Given the description of an element on the screen output the (x, y) to click on. 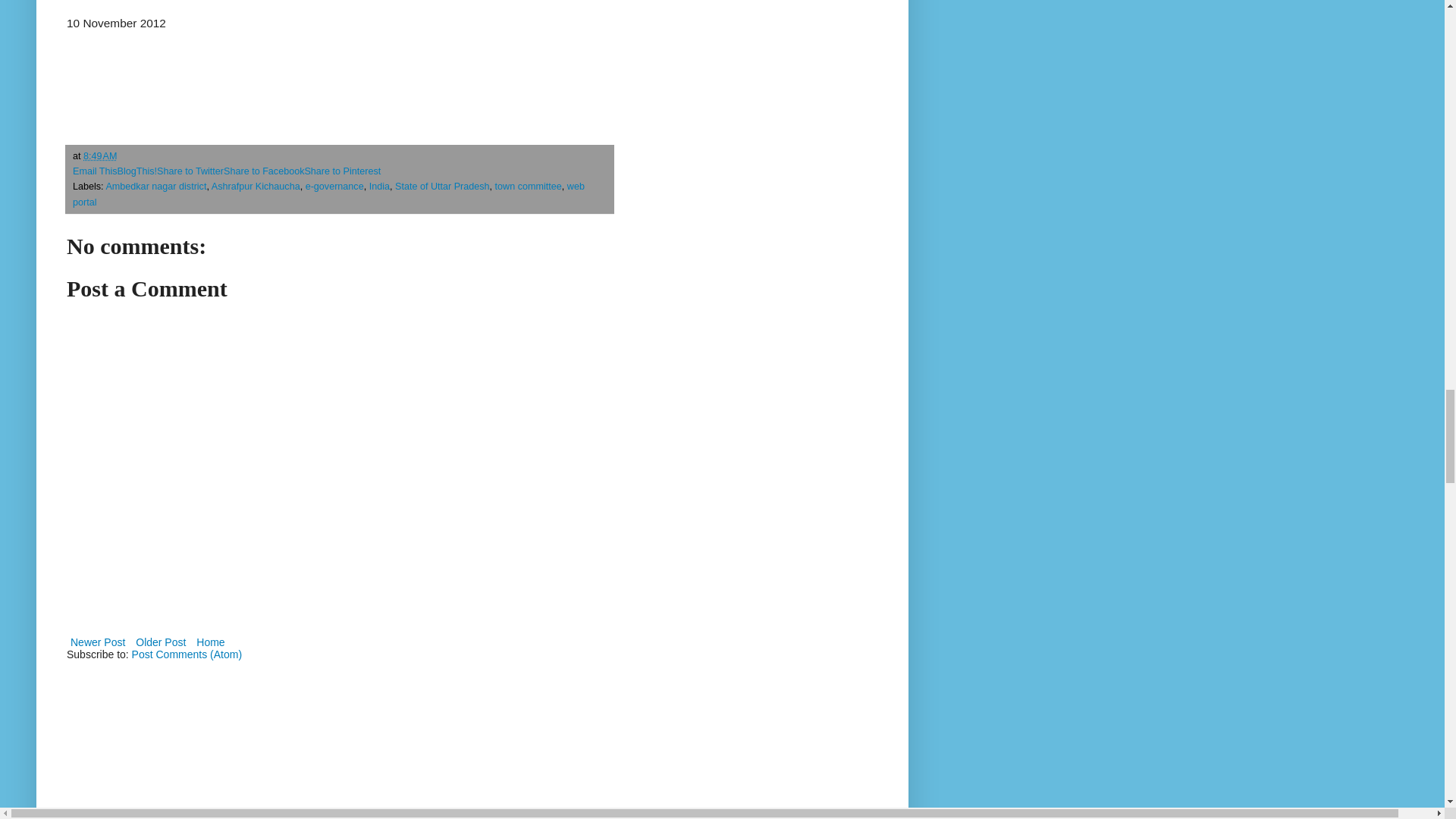
town committee (528, 185)
BlogThis! (137, 171)
Share to Twitter (190, 171)
Share to Pinterest (342, 171)
permanent link (99, 155)
Share to Pinterest (342, 171)
Share to Facebook (264, 171)
Newer Post (97, 641)
BlogThis! (137, 171)
Email This (94, 171)
Newer Post (97, 641)
Email This (94, 171)
Share to Facebook (264, 171)
Email Post (126, 155)
